Given the description of an element on the screen output the (x, y) to click on. 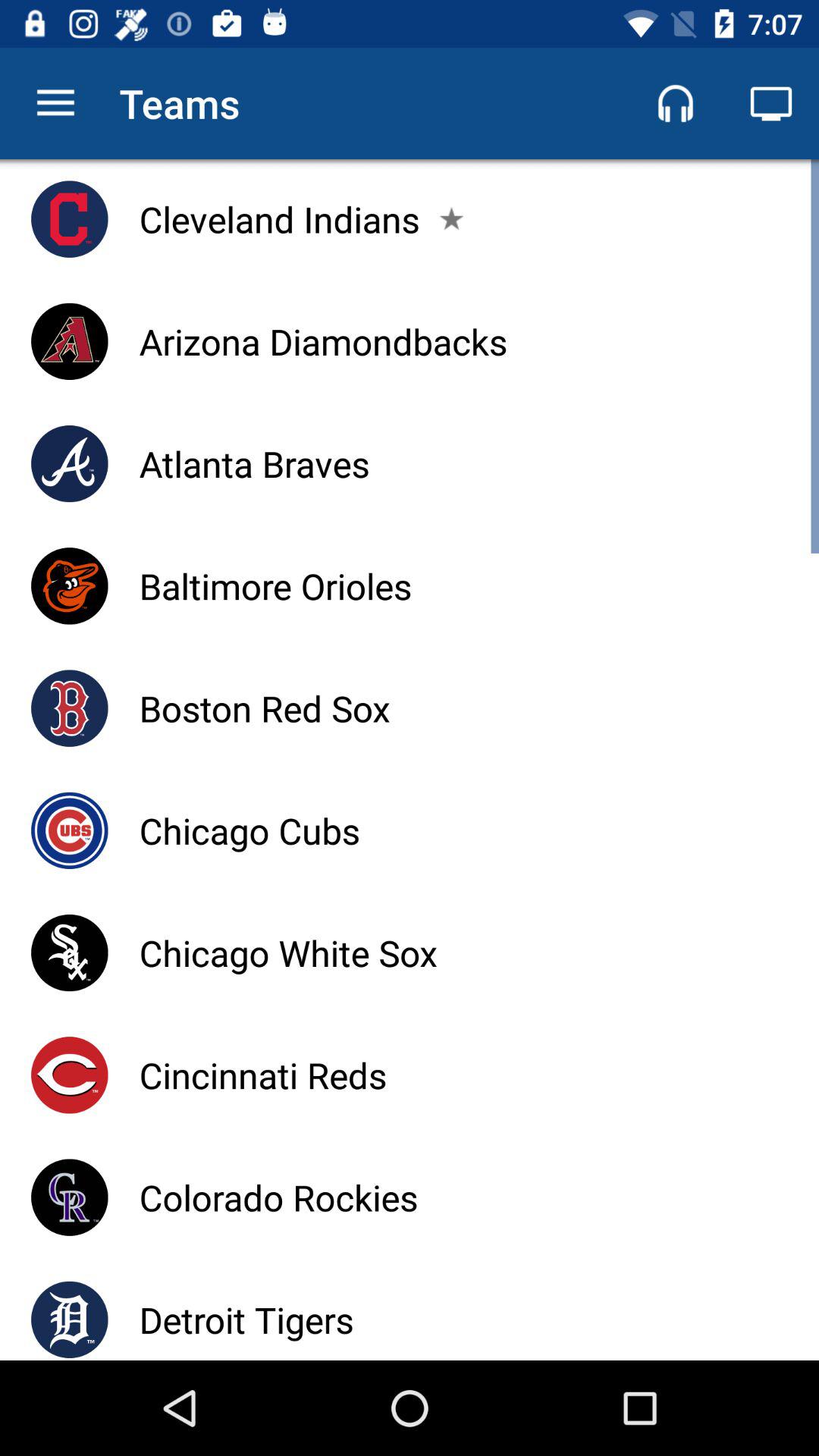
choose icon below cincinnati reds (278, 1197)
